Given the description of an element on the screen output the (x, y) to click on. 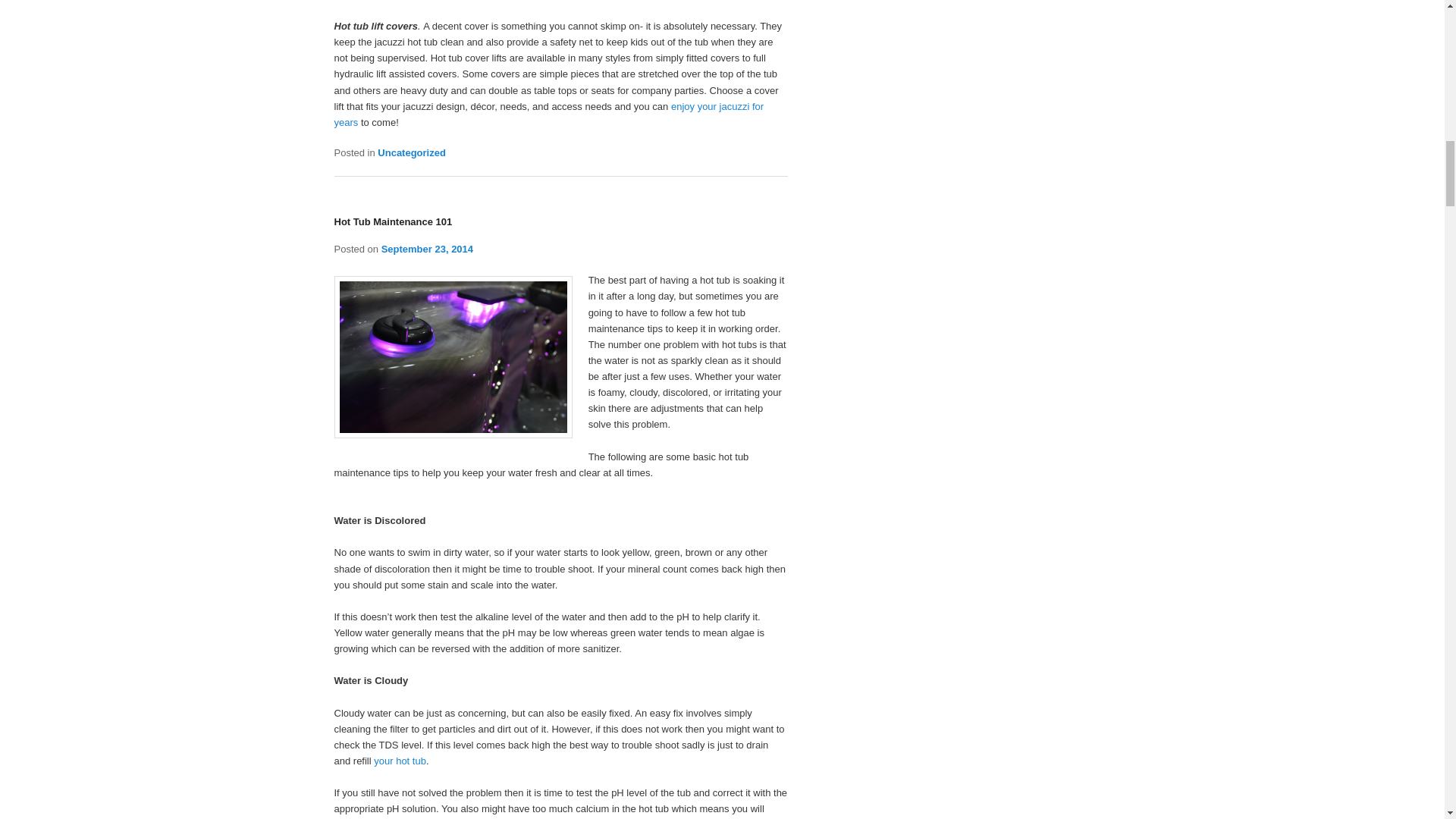
Permalink to Hot Tub Maintenance 101 (392, 221)
your hot tub (400, 760)
enjoy your jacuzzi for years (547, 113)
your hot tub (400, 760)
1:00 am (427, 248)
Uncategorized (411, 152)
enjoy your jacuzzi for years (547, 113)
Hot Tub Maintenance 101 (392, 221)
September 23, 2014 (427, 248)
